Given the description of an element on the screen output the (x, y) to click on. 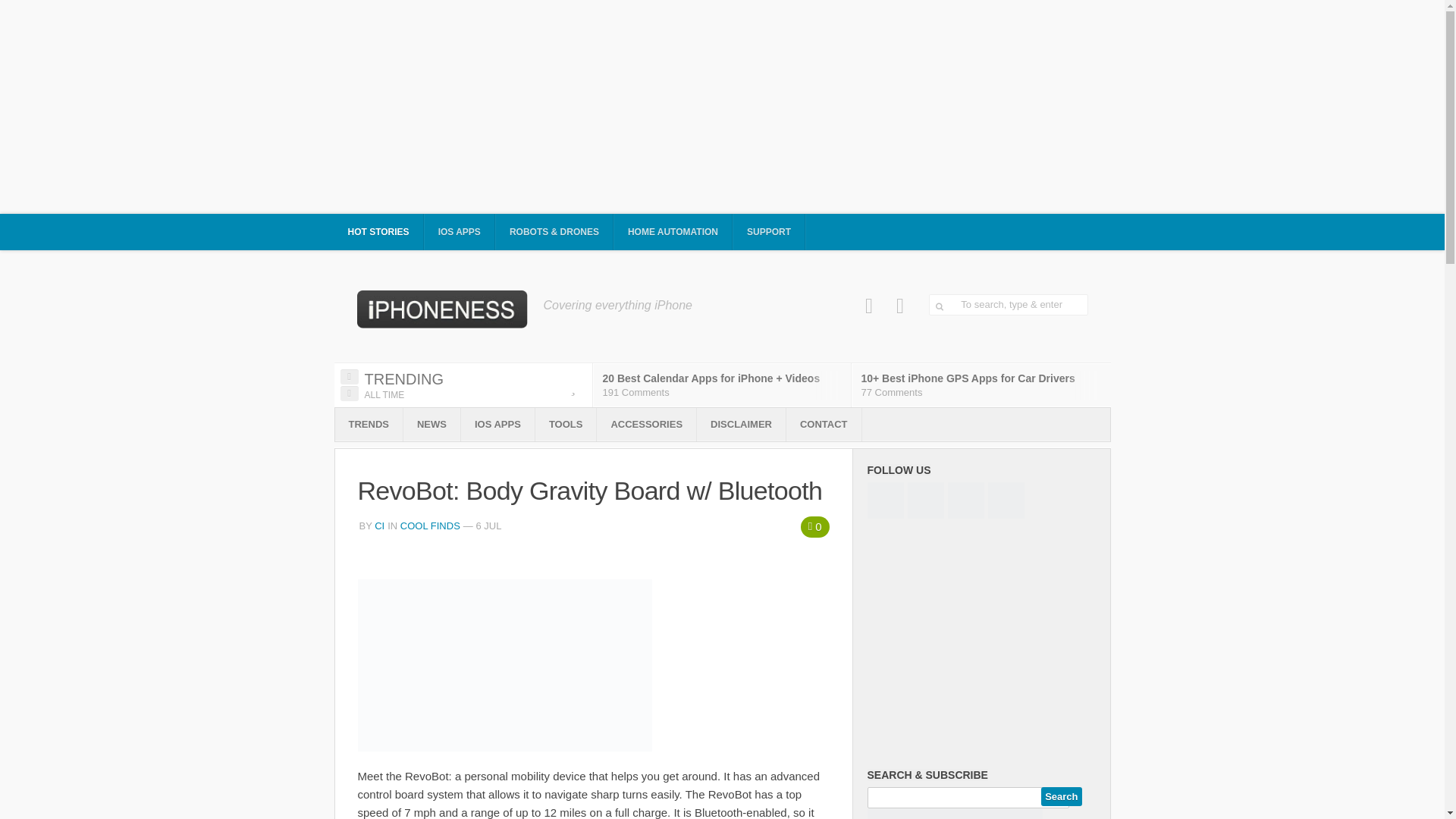
Pinterest (900, 305)
NEWS (431, 424)
Facebook (869, 305)
HOME AUTOMATION (673, 231)
TRENDS (368, 424)
HOT STORIES (377, 231)
IOS APPS (460, 231)
Search (1061, 796)
SUPPORT (769, 231)
